Given the description of an element on the screen output the (x, y) to click on. 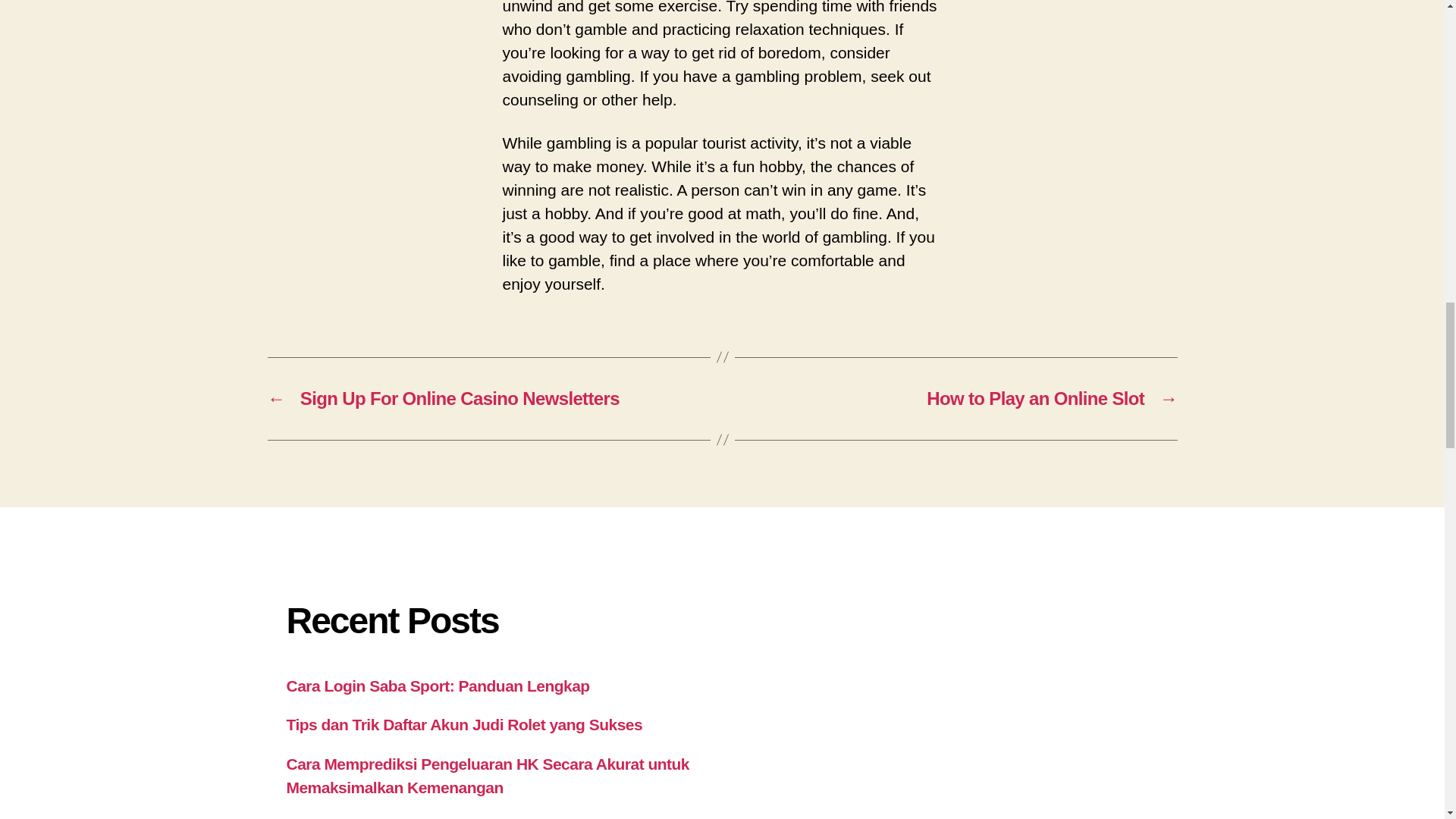
Cara Login Saba Sport: Panduan Lengkap (437, 685)
Tips dan Trik Daftar Akun Judi Rolet yang Sukses (464, 724)
